Given the description of an element on the screen output the (x, y) to click on. 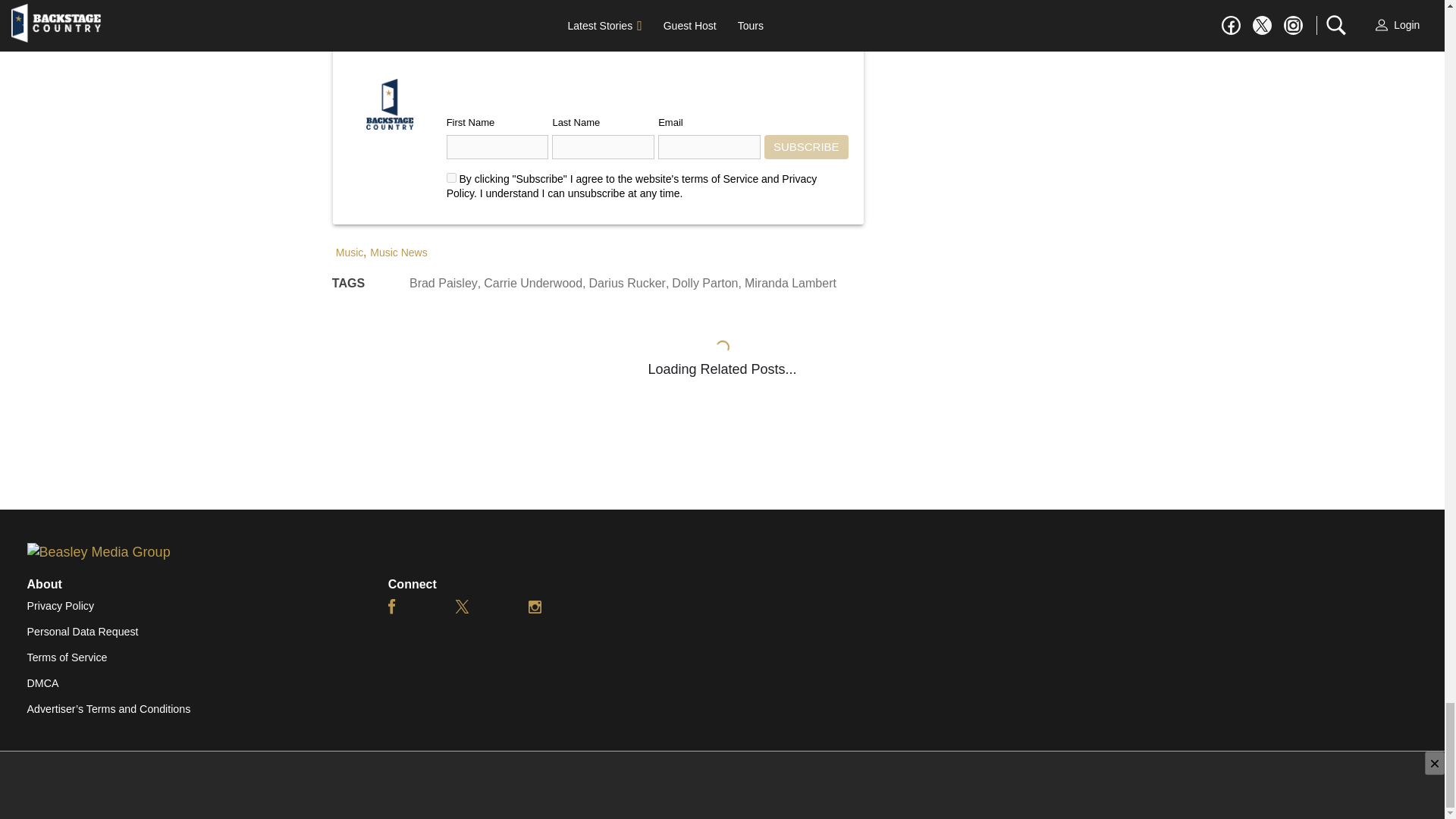
on (451, 177)
Instagram (534, 606)
Twitter (462, 606)
